Given the description of an element on the screen output the (x, y) to click on. 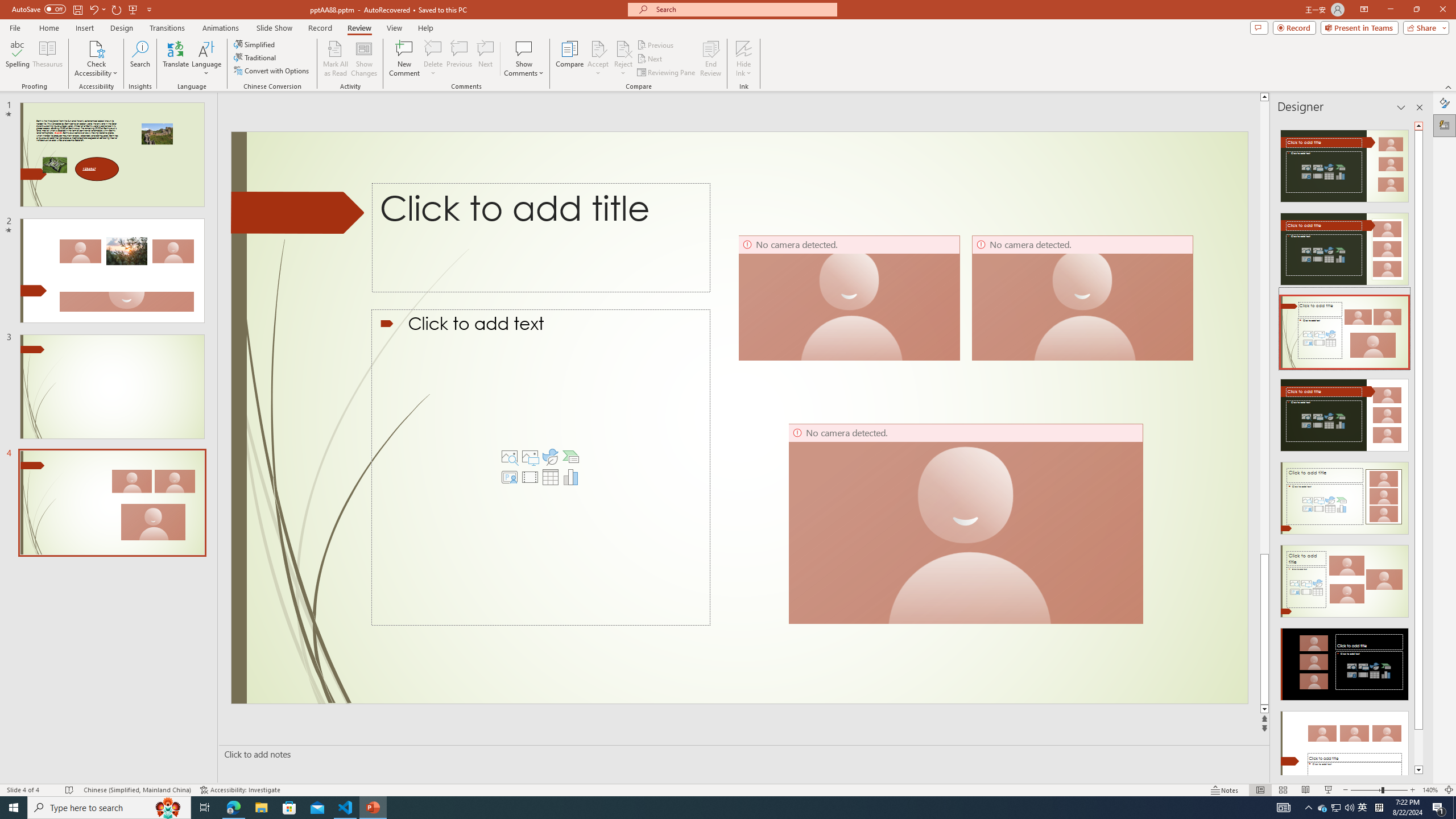
Search (140, 58)
Design Idea (1344, 743)
Slide Notes (741, 754)
Reviewing Pane (666, 72)
Class: MsoCommandBar (728, 789)
Insert a SmartArt Graphic (570, 456)
End Review (710, 58)
Hide Ink (743, 58)
Accept (598, 58)
